Given the description of an element on the screen output the (x, y) to click on. 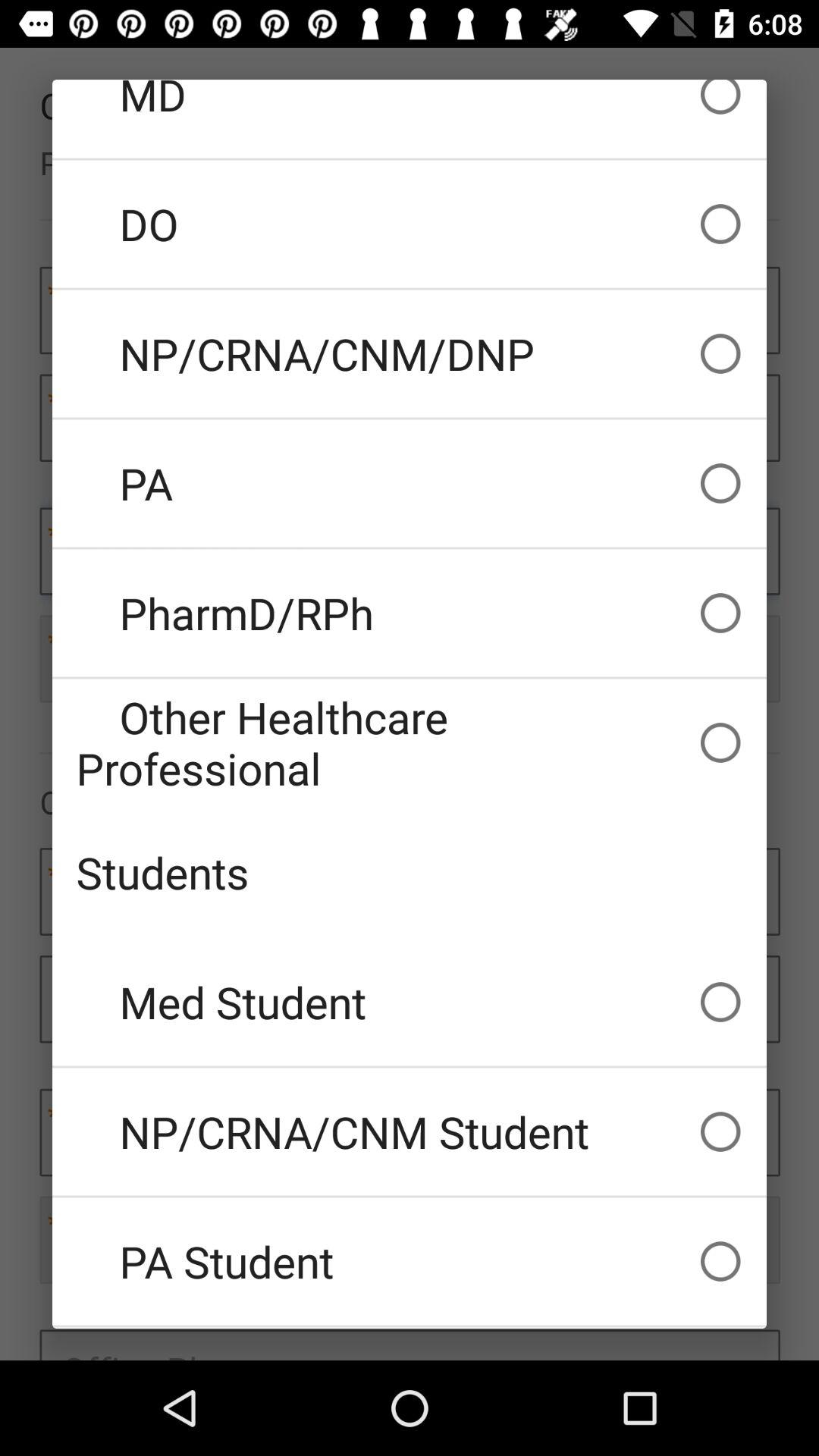
turn off the     pharmd/rph icon (409, 612)
